Given the description of an element on the screen output the (x, y) to click on. 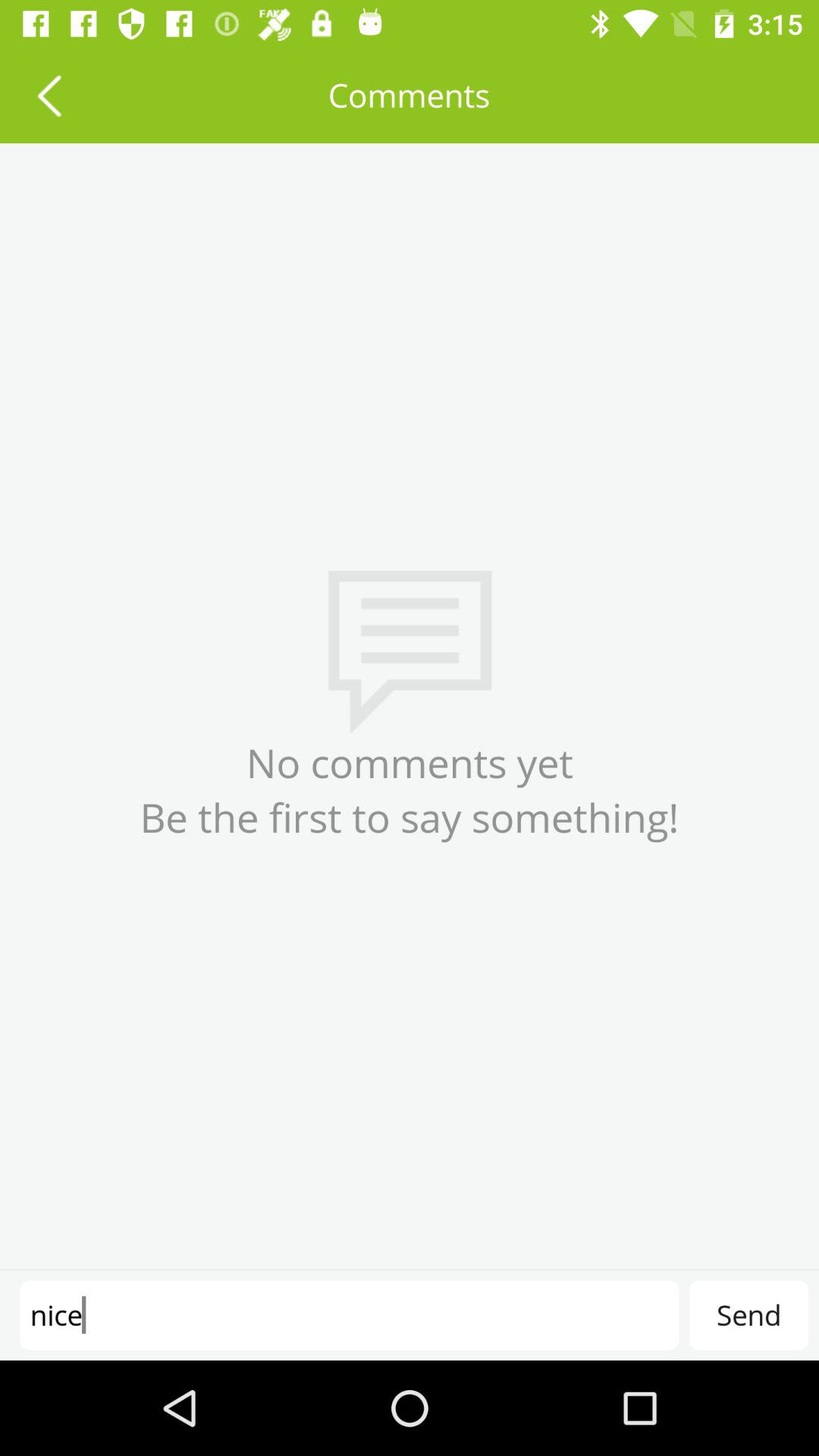
swipe until nice item (349, 1315)
